Given the description of an element on the screen output the (x, y) to click on. 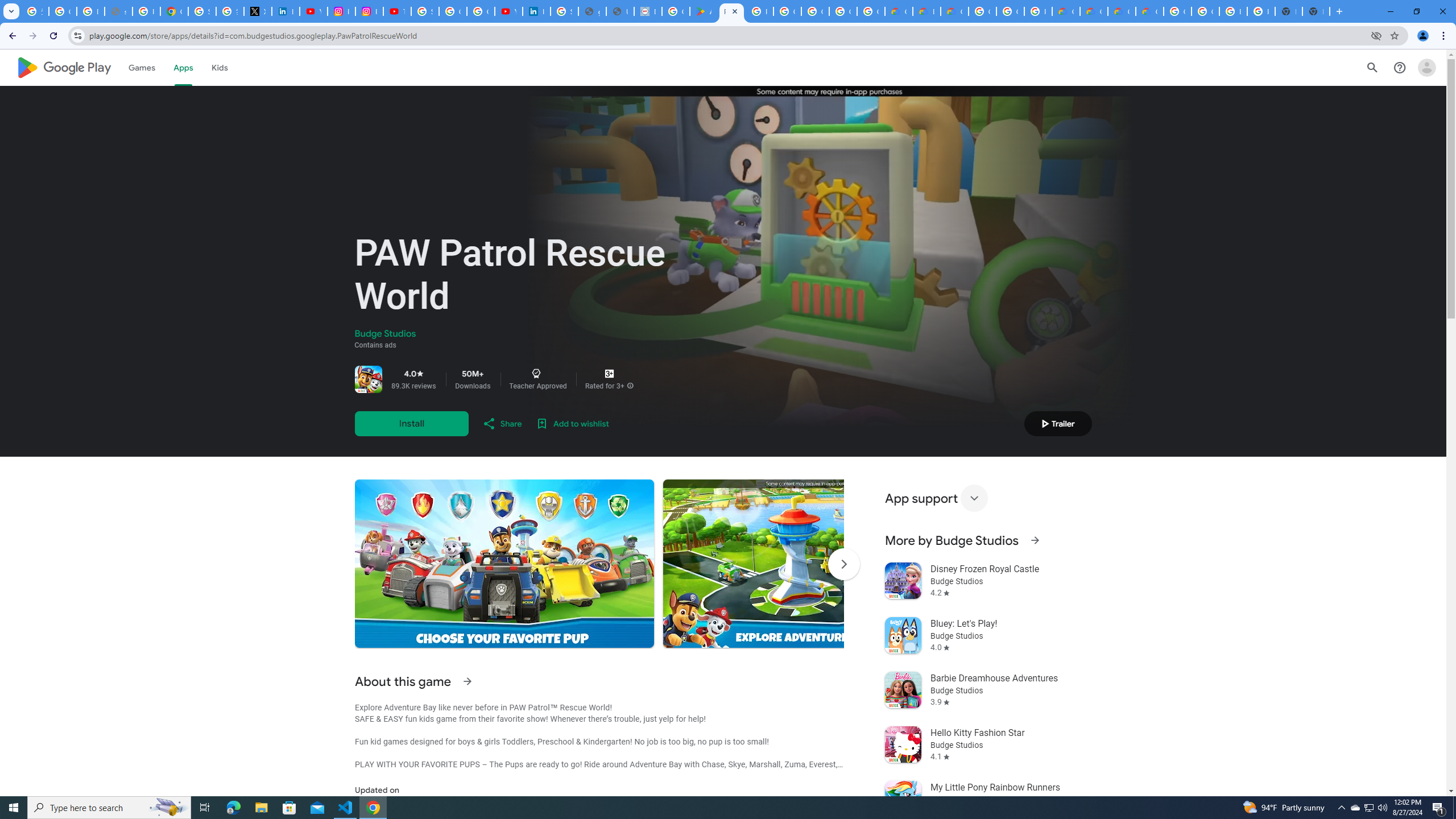
Share (502, 422)
YouTube Content Monetization Policies - How YouTube Works (313, 11)
See more information on About this game (466, 681)
Games (141, 67)
